Given the description of an element on the screen output the (x, y) to click on. 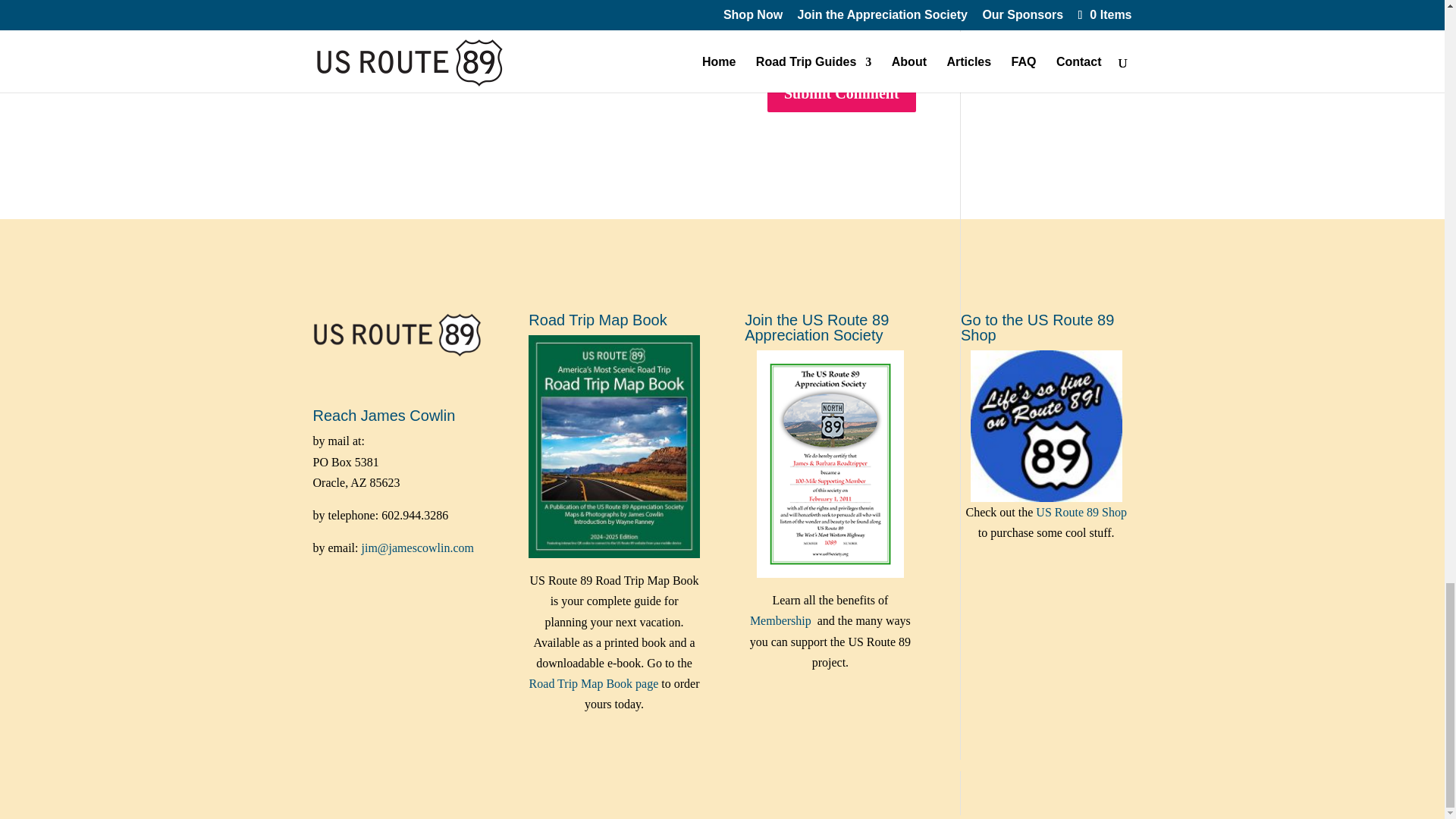
Submit Comment (841, 93)
